Given the description of an element on the screen output the (x, y) to click on. 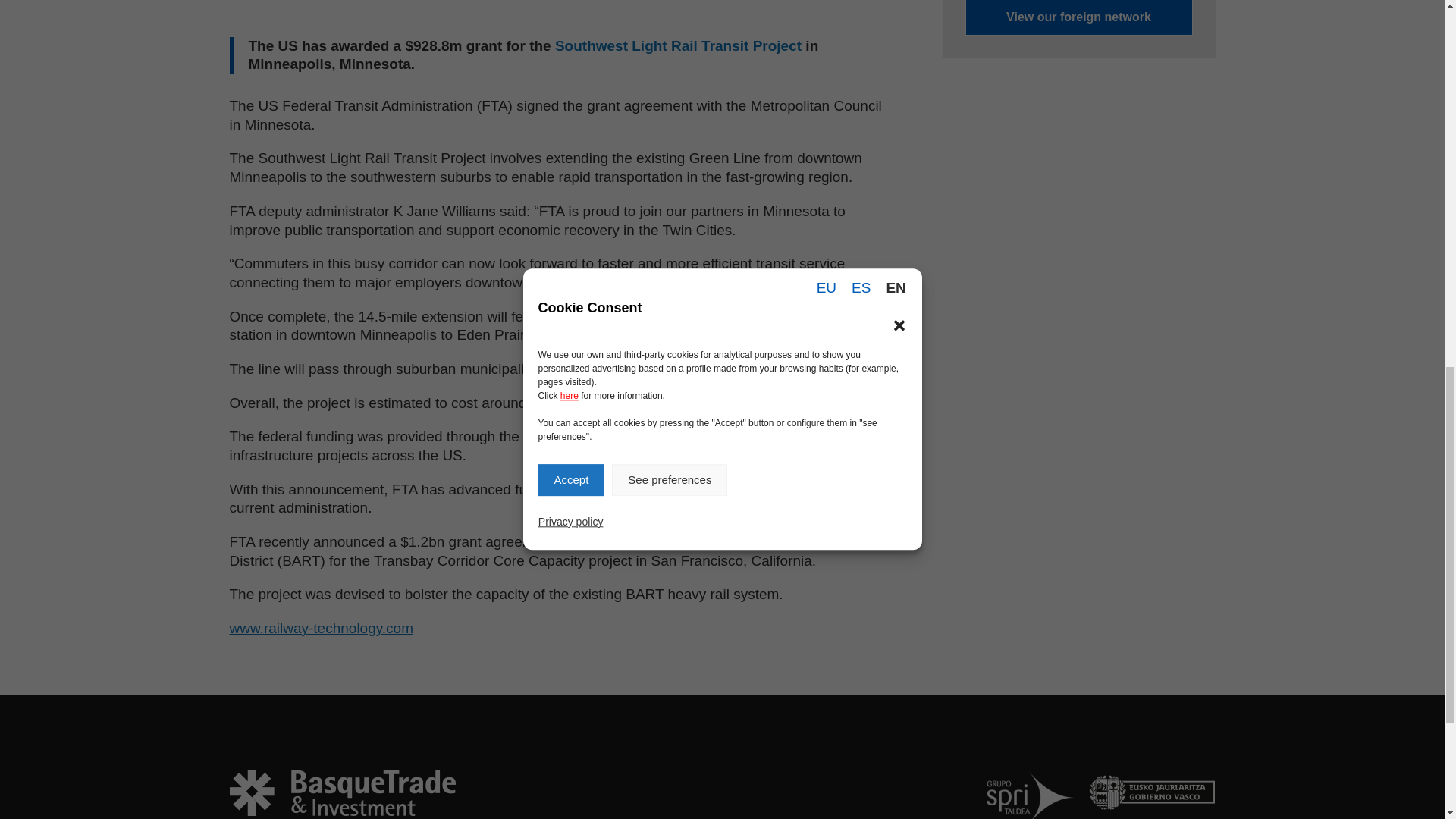
here (569, 42)
